Given the description of an element on the screen output the (x, y) to click on. 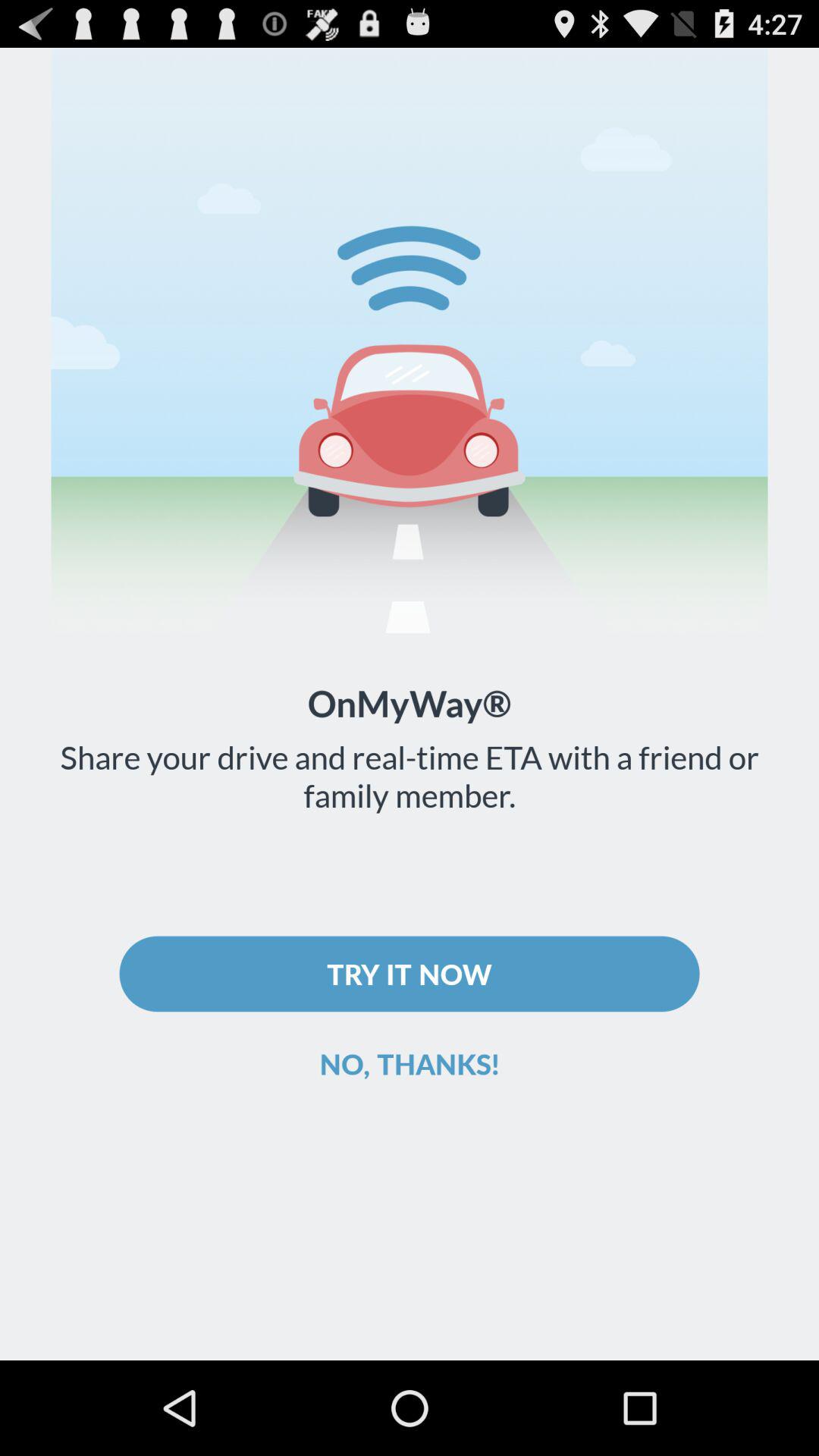
choose icon below the try it now icon (409, 1063)
